Given the description of an element on the screen output the (x, y) to click on. 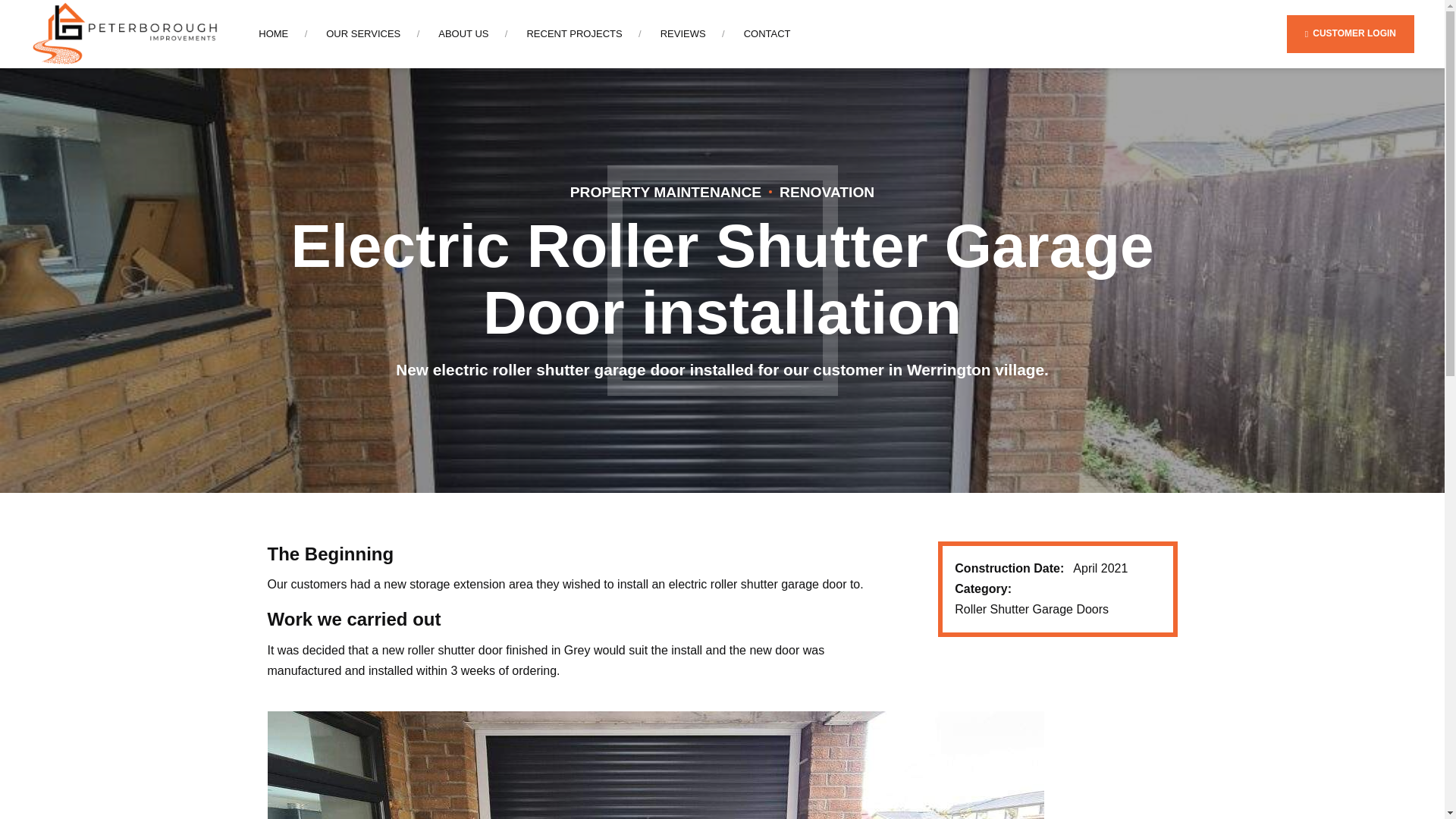
OUR SERVICES (363, 33)
CUSTOMER LOGIN (1350, 33)
